Given the description of an element on the screen output the (x, y) to click on. 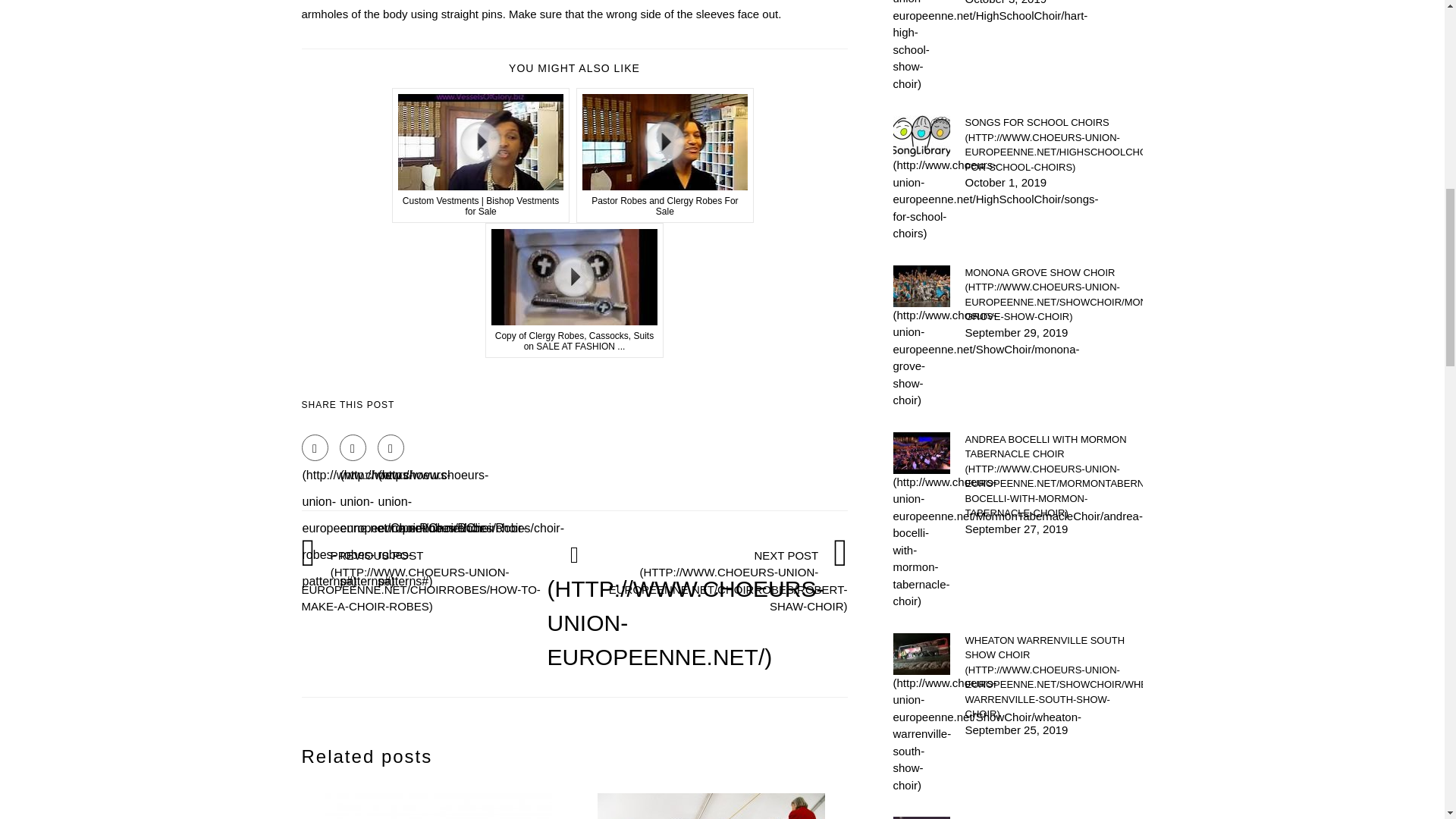
View this video from YouTube (573, 289)
View this video from YouTube (665, 154)
View this video from YouTube (480, 154)
PREVIOUS POST (424, 580)
Facebook (315, 447)
Twitter (352, 447)
Google Plus (390, 447)
NEXT POST (724, 580)
